Given the description of an element on the screen output the (x, y) to click on. 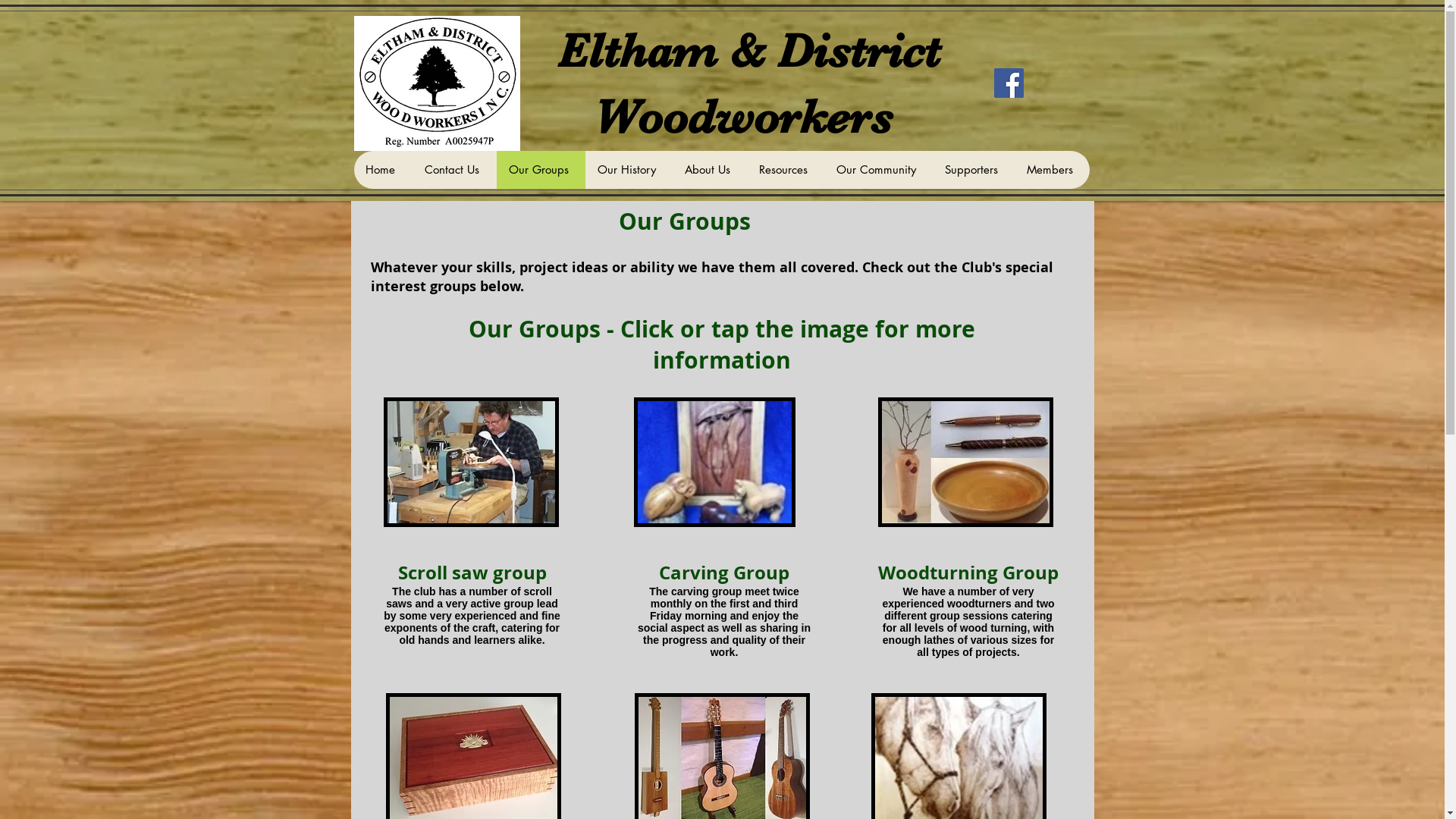
E Element type: text (572, 50)
S Element type: text (402, 572)
C Element type: text (664, 572)
Resources Element type: text (784, 169)
Supporters Element type: text (973, 169)
Our Groups Element type: text (539, 169)
Home Element type: text (382, 169)
Our History Element type: text (628, 169)
About Us Element type: text (708, 169)
Our Community Element type: text (877, 169)
Contact Us Element type: text (454, 169)
Members Element type: text (1051, 169)
